Given the description of an element on the screen output the (x, y) to click on. 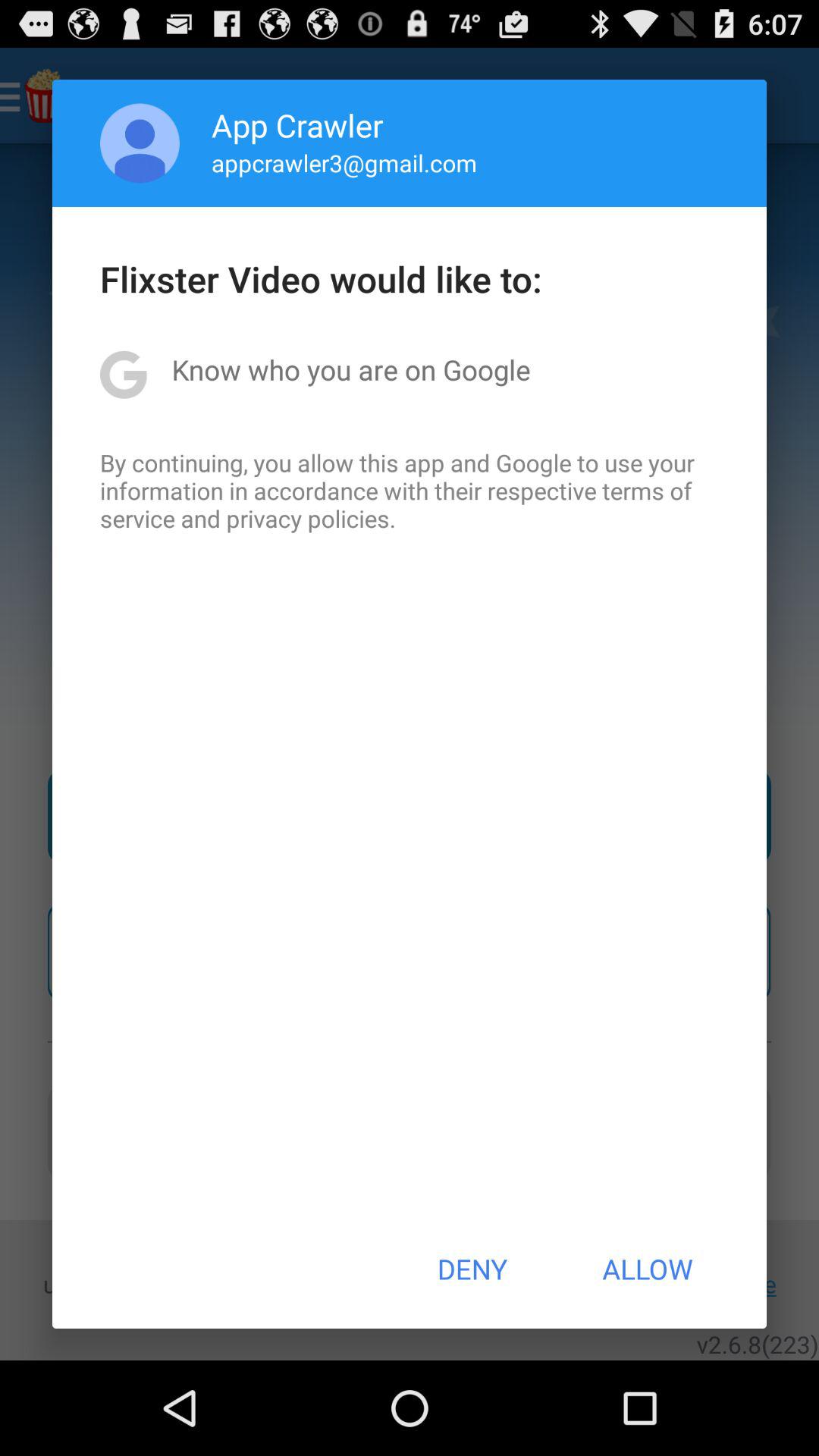
swipe to the deny item (471, 1268)
